Given the description of an element on the screen output the (x, y) to click on. 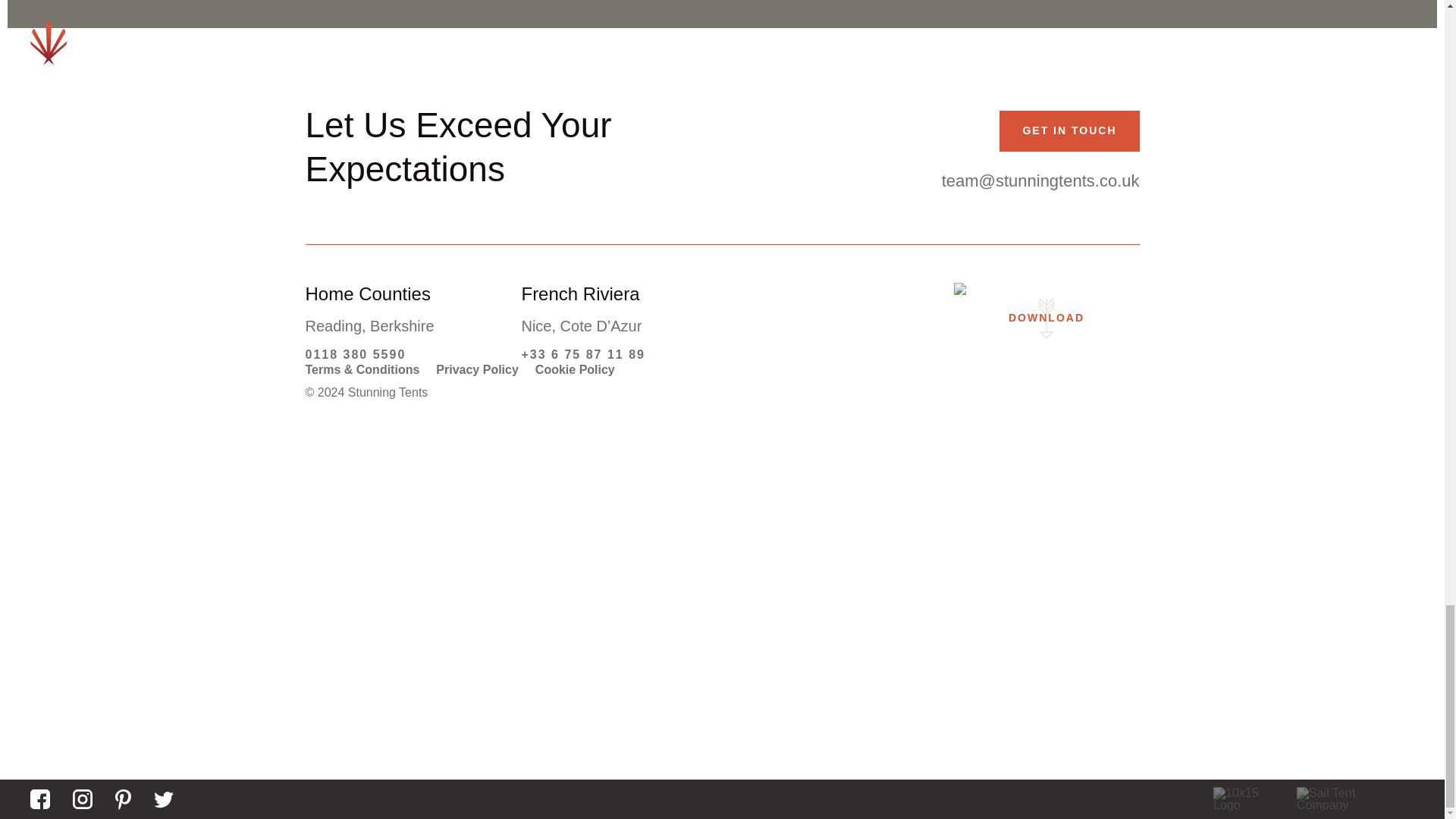
DOWNLOAD (1046, 318)
0118 380 5590 (355, 354)
GET IN TOUCH (1068, 130)
